Given the description of an element on the screen output the (x, y) to click on. 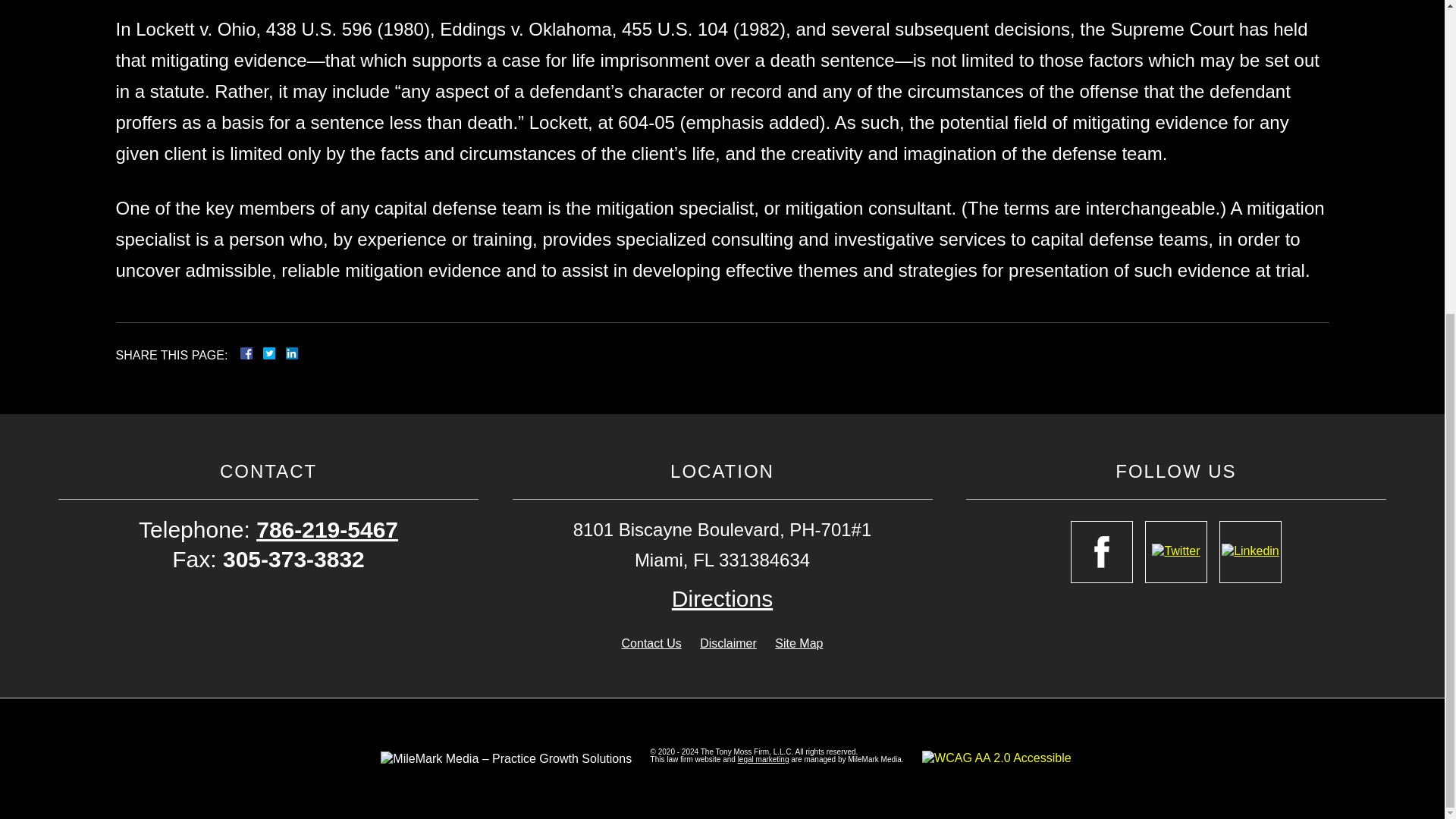
LinkedIn (286, 353)
Open Google Map in a New Window (722, 598)
Open Facebook in a New Window (1101, 551)
Twitter (274, 353)
Facebook (264, 353)
Open Twitter in a New Window (1175, 551)
Open Linkedin in a New Window (1250, 551)
Open MileMarkMedia.com in a New Window (763, 759)
